Given the description of an element on the screen output the (x, y) to click on. 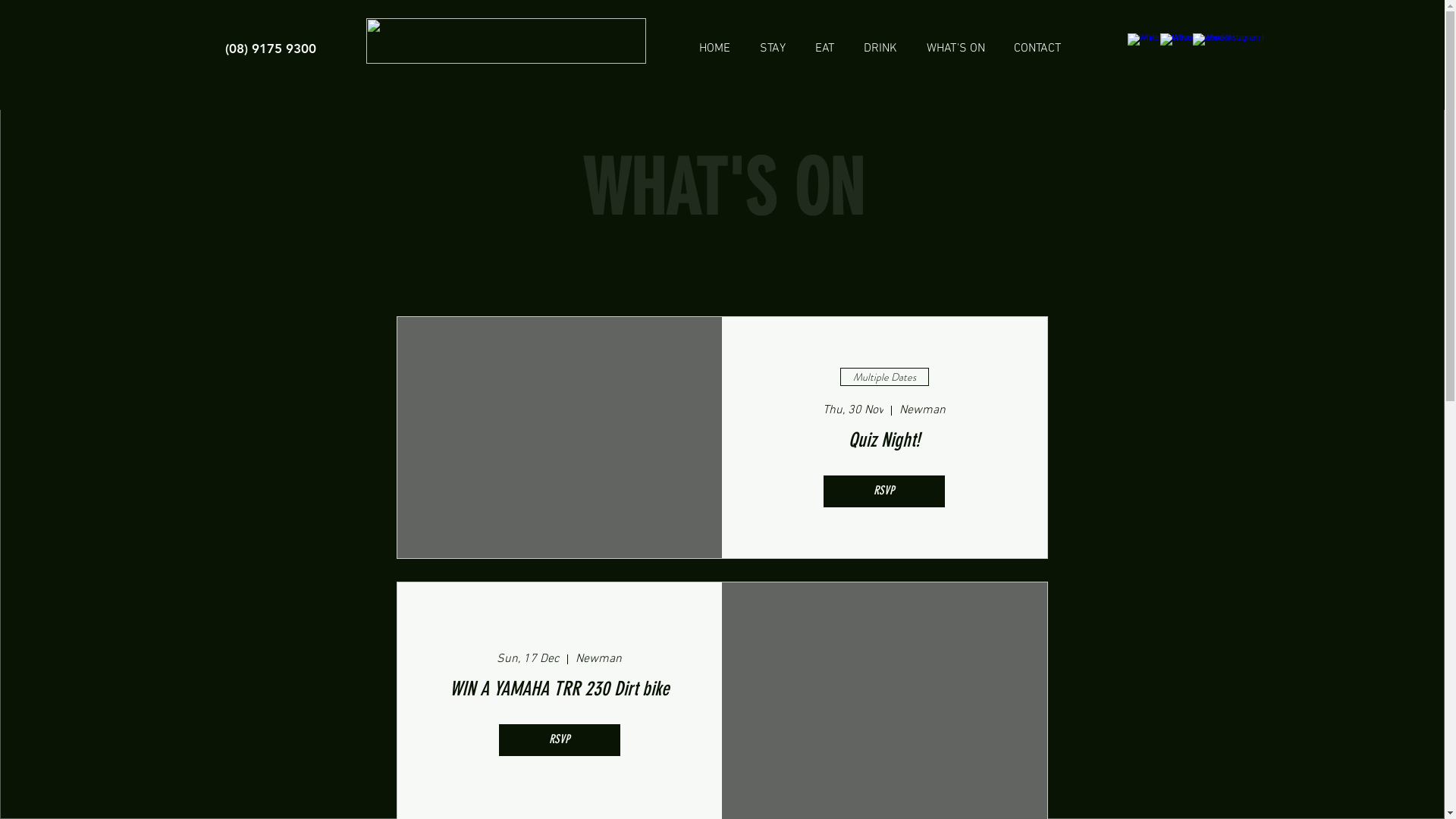
WHAT'S ON Element type: text (954, 41)
RSVP Element type: text (559, 717)
(08) 9175 9300 Element type: text (269, 48)
CONTACT Element type: text (1037, 41)
Quiz Night! Element type: text (883, 434)
HOME Element type: text (714, 41)
RSVP Element type: text (883, 485)
STAY Element type: text (772, 41)
WIN A YAMAHA TRR 230 Dirt bike Element type: text (559, 666)
